Given the description of an element on the screen output the (x, y) to click on. 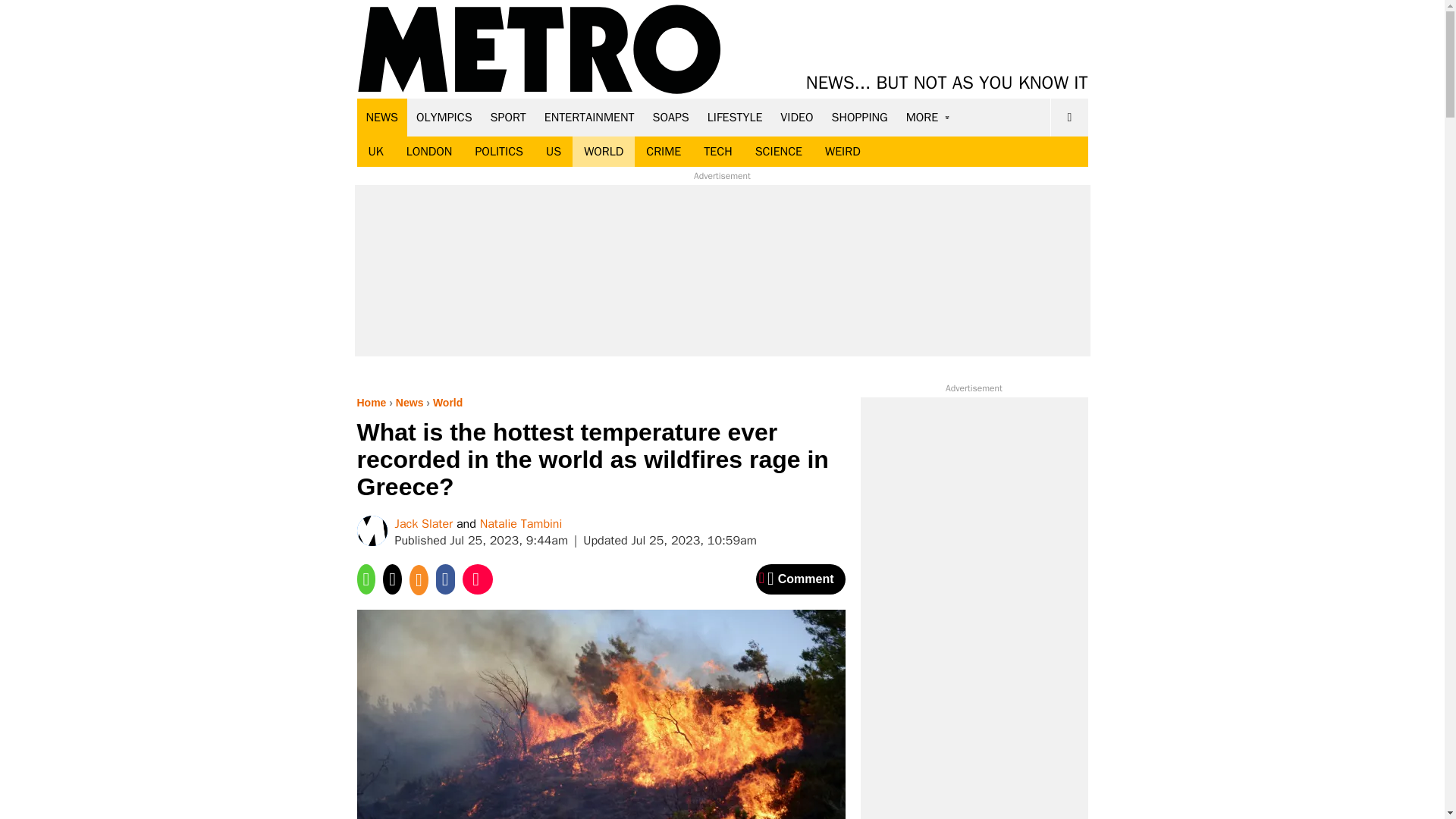
ENTERTAINMENT (589, 117)
OLYMPICS (444, 117)
WEIRD (842, 151)
POLITICS (498, 151)
CRIME (663, 151)
Metro (539, 50)
SOAPS (670, 117)
TECH (717, 151)
LONDON (429, 151)
WORLD (603, 151)
